Given the description of an element on the screen output the (x, y) to click on. 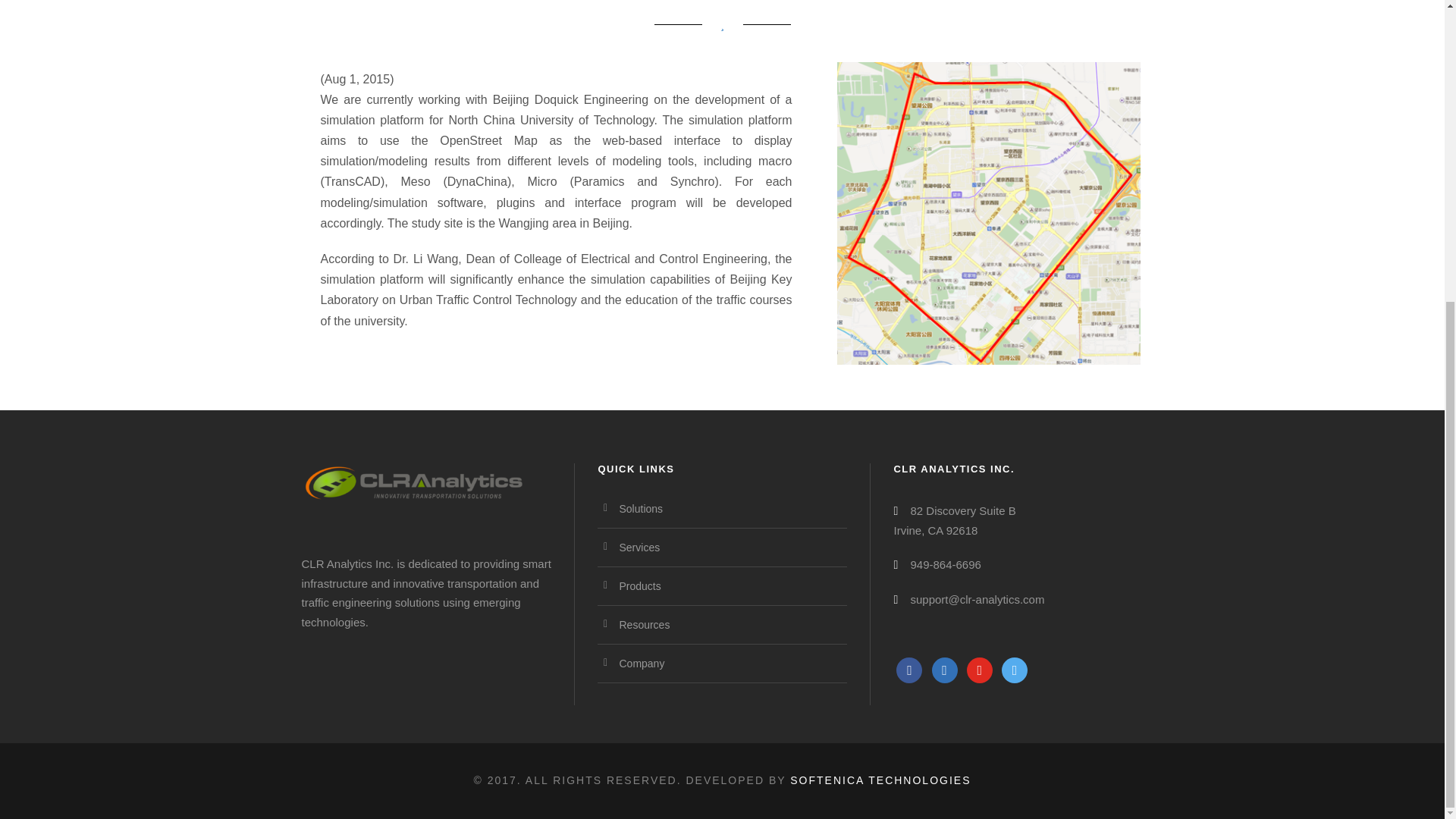
Twitter (944, 668)
Default Label (1014, 668)
Facebook (908, 668)
Default Label (979, 668)
